Given the description of an element on the screen output the (x, y) to click on. 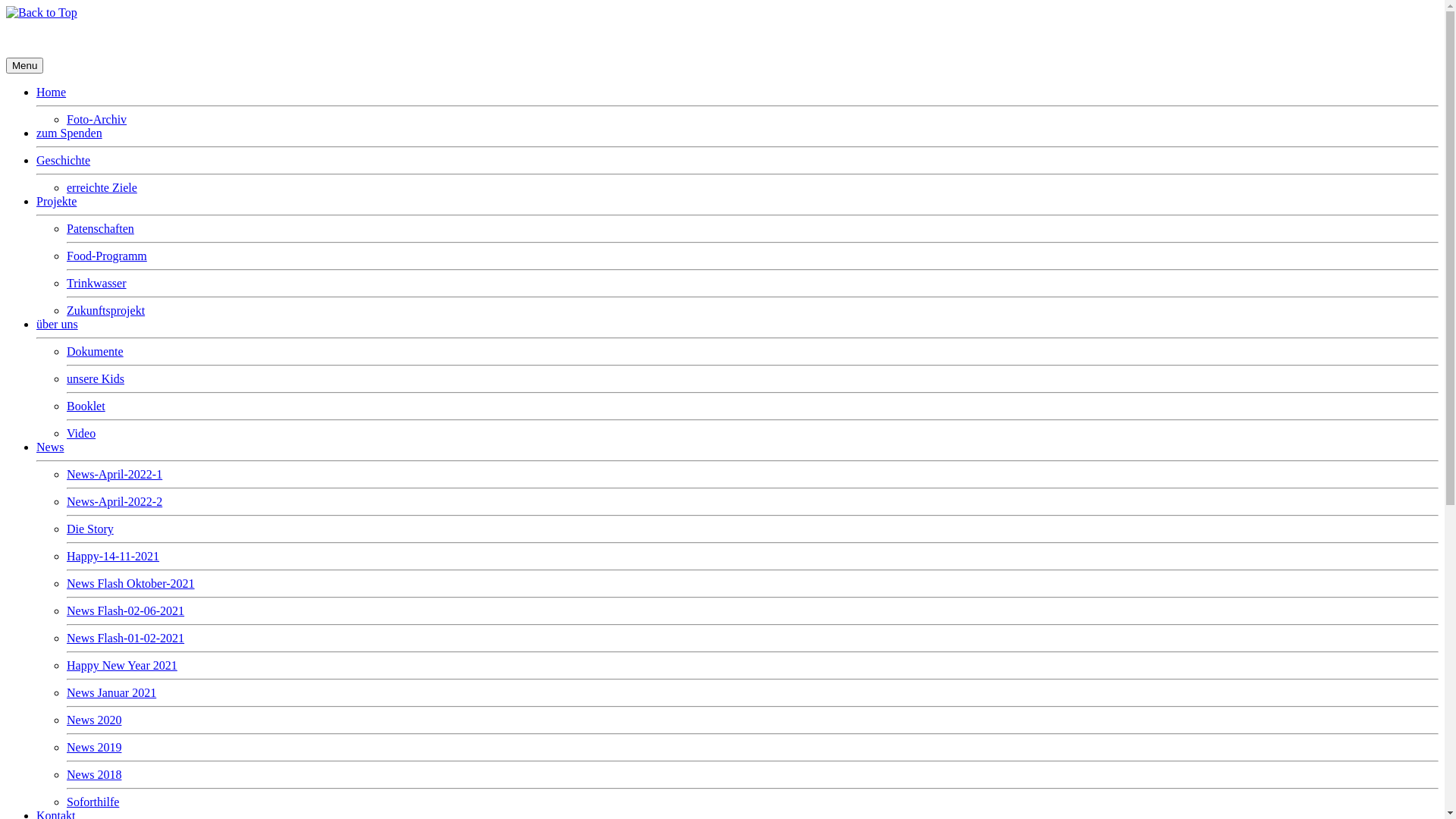
Trinkwasser Element type: text (96, 282)
erreichte Ziele Element type: text (101, 187)
unsere Kids Element type: text (95, 378)
Happy-14-11-2021 Element type: text (112, 555)
Happy New Year 2021 Element type: text (121, 664)
News Flash-02-06-2021 Element type: text (125, 610)
Foto-Archiv Element type: text (96, 118)
Zukunftsprojekt Element type: text (105, 310)
Dokumente Element type: text (94, 351)
News Flash Oktober-2021 Element type: text (130, 583)
News 2018 Element type: text (93, 774)
Food-Programm Element type: text (106, 255)
Projekte Element type: text (56, 200)
News Element type: text (49, 446)
Video Element type: text (80, 432)
News 2019 Element type: text (93, 746)
Booklet Element type: text (85, 405)
News-April-2022-2 Element type: text (114, 501)
News Flash-01-02-2021 Element type: text (125, 637)
News Januar 2021 Element type: text (111, 692)
zum Spenden Element type: text (69, 132)
News-April-2022-1 Element type: text (114, 473)
Patenschaften Element type: text (100, 228)
Soforthilfe Element type: text (92, 801)
Die Story Element type: text (89, 528)
Geschichte Element type: text (63, 159)
Home Element type: text (50, 91)
News 2020 Element type: text (93, 719)
Menu Element type: text (24, 65)
